Given the description of an element on the screen output the (x, y) to click on. 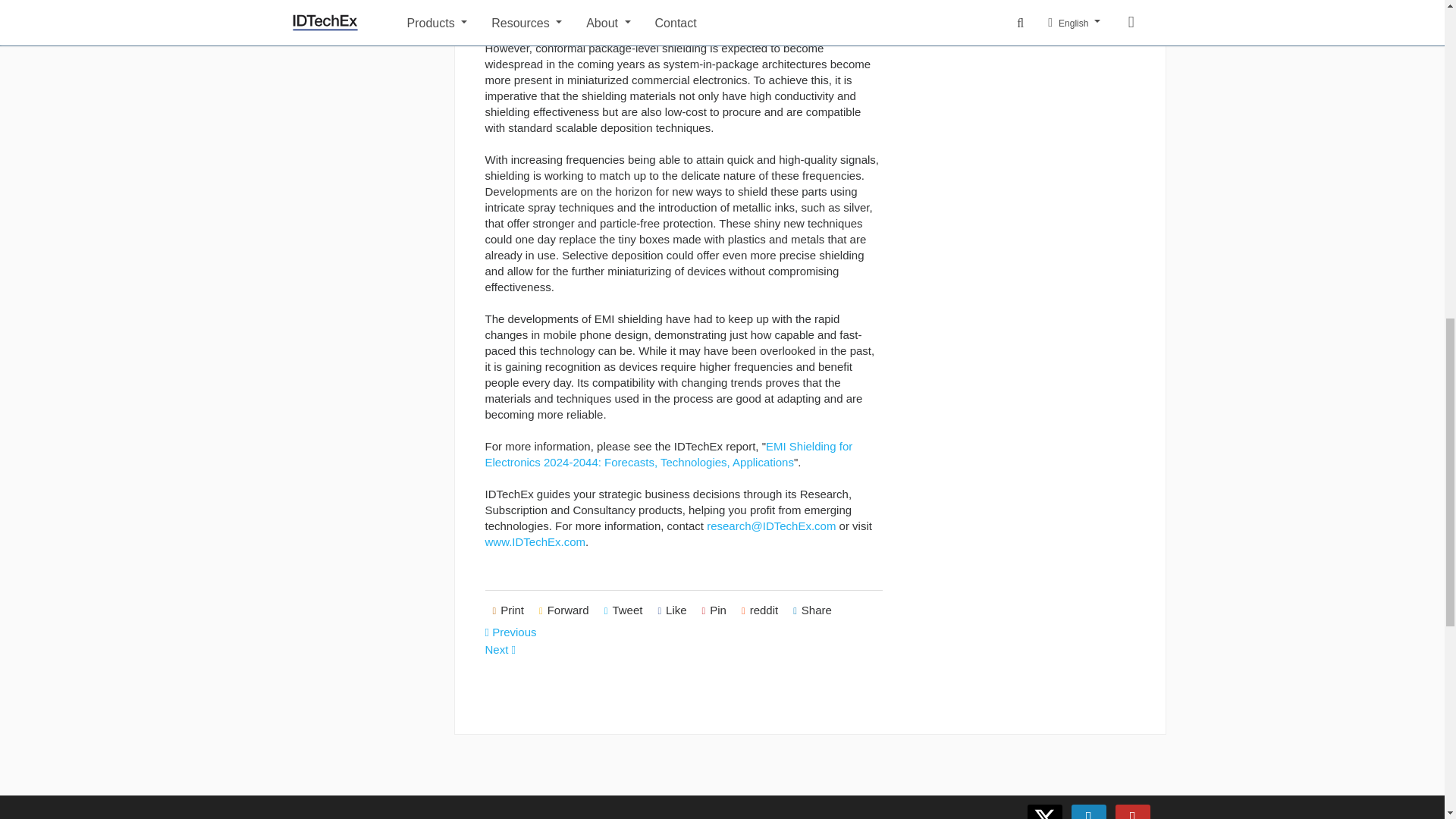
Share on Twitter (623, 610)
Share on LinkedIn (813, 610)
Share on Reddit (759, 610)
Share on Pinterest (713, 610)
Print Article (508, 610)
Share on Facebook (671, 610)
Forward to a Friend (563, 610)
